Given the description of an element on the screen output the (x, y) to click on. 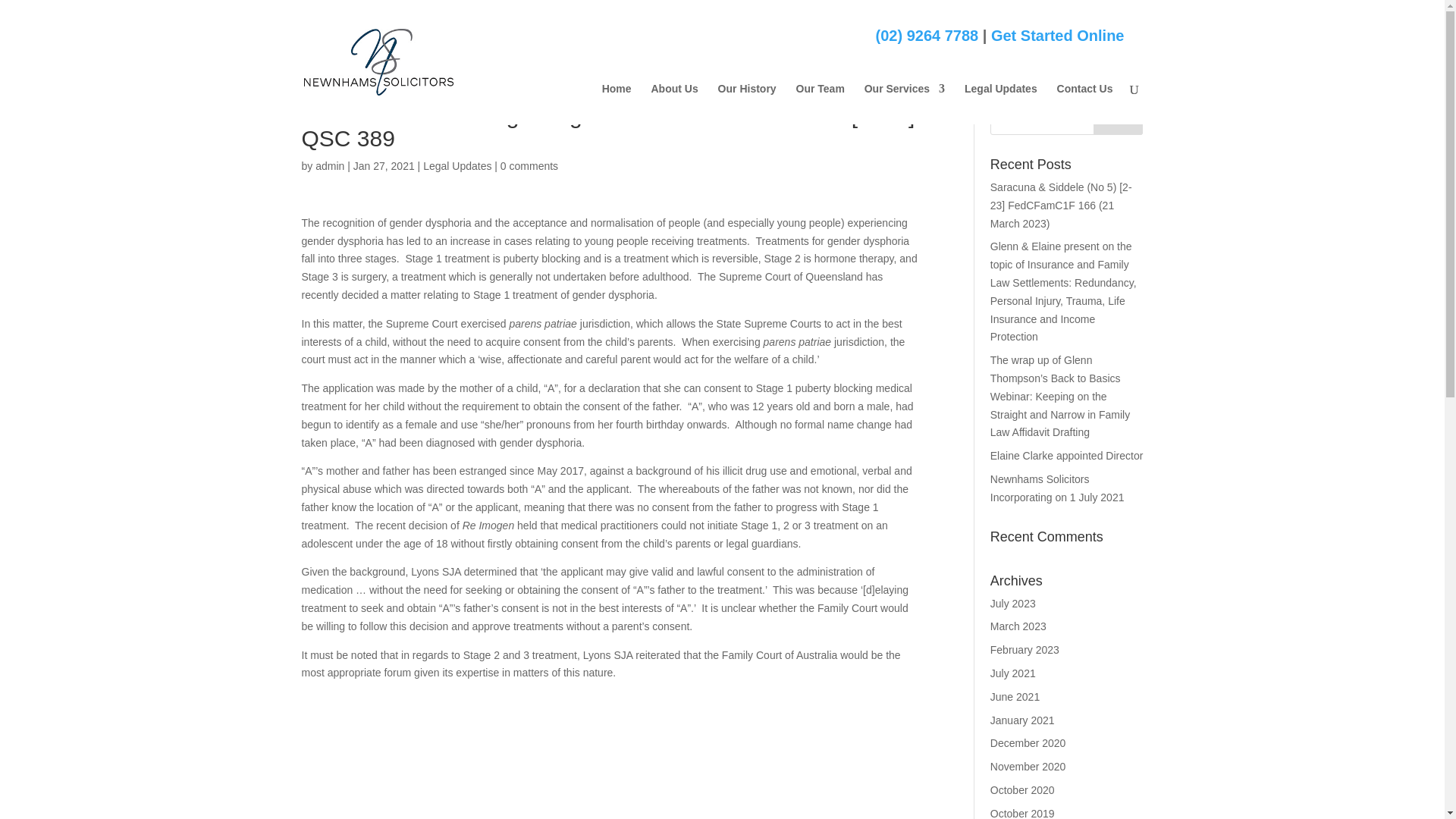
Search (1117, 119)
Legal Updates (999, 103)
July 2021 (1012, 673)
June 2021 (1014, 696)
Legal Updates (457, 165)
Our Services (904, 103)
Our Team (820, 103)
0 comments (528, 165)
October 2019 (1022, 813)
Elaine Clarke appointed Director (1066, 455)
